Given the description of an element on the screen output the (x, y) to click on. 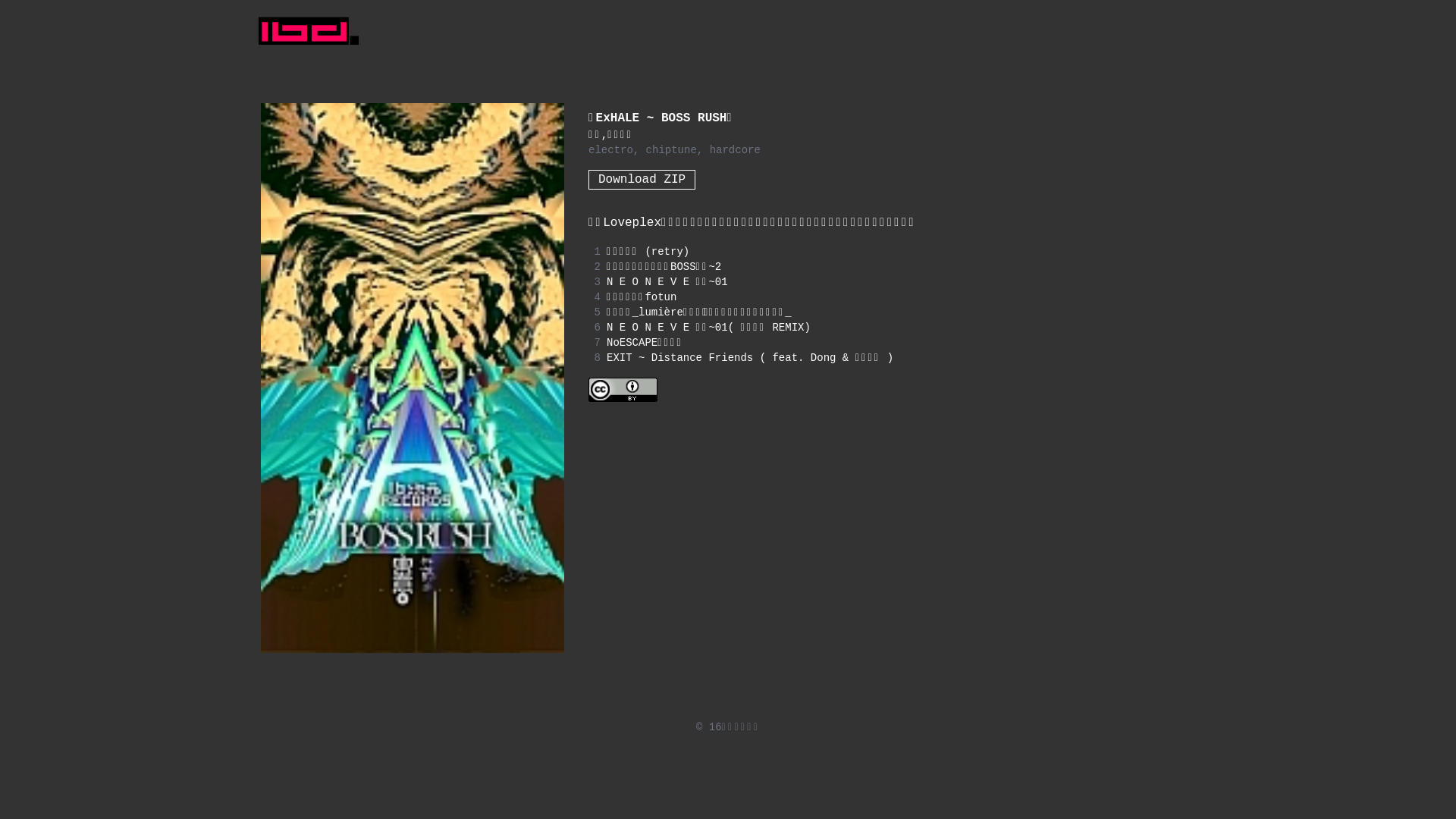
Download ZIP Element type: text (641, 179)
